Given the description of an element on the screen output the (x, y) to click on. 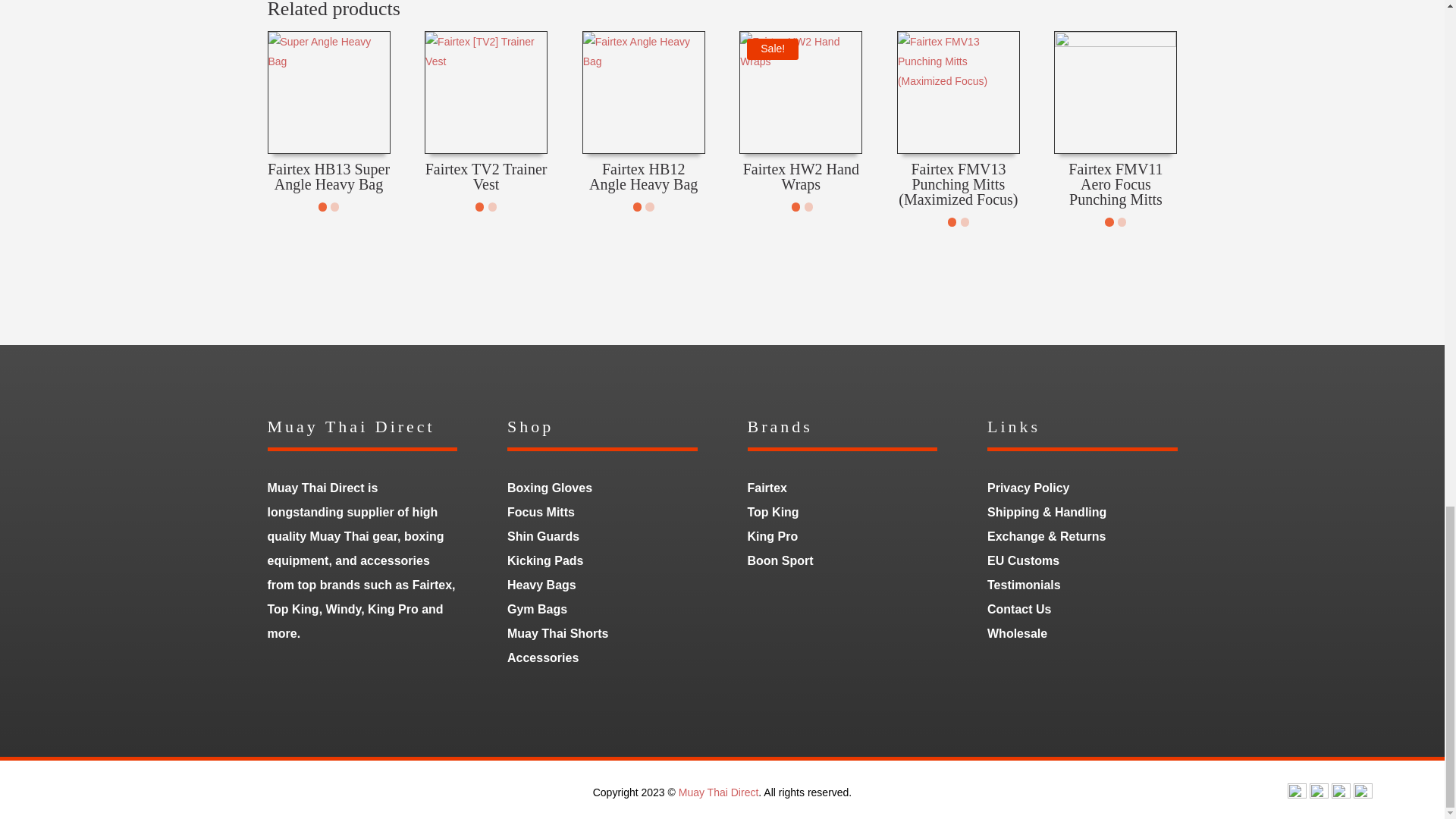
Web Development Agency (752, 701)
Pinterest (1363, 794)
Facebook (1296, 794)
LinkedIn (1341, 794)
Instagram (1317, 794)
